Given the description of an element on the screen output the (x, y) to click on. 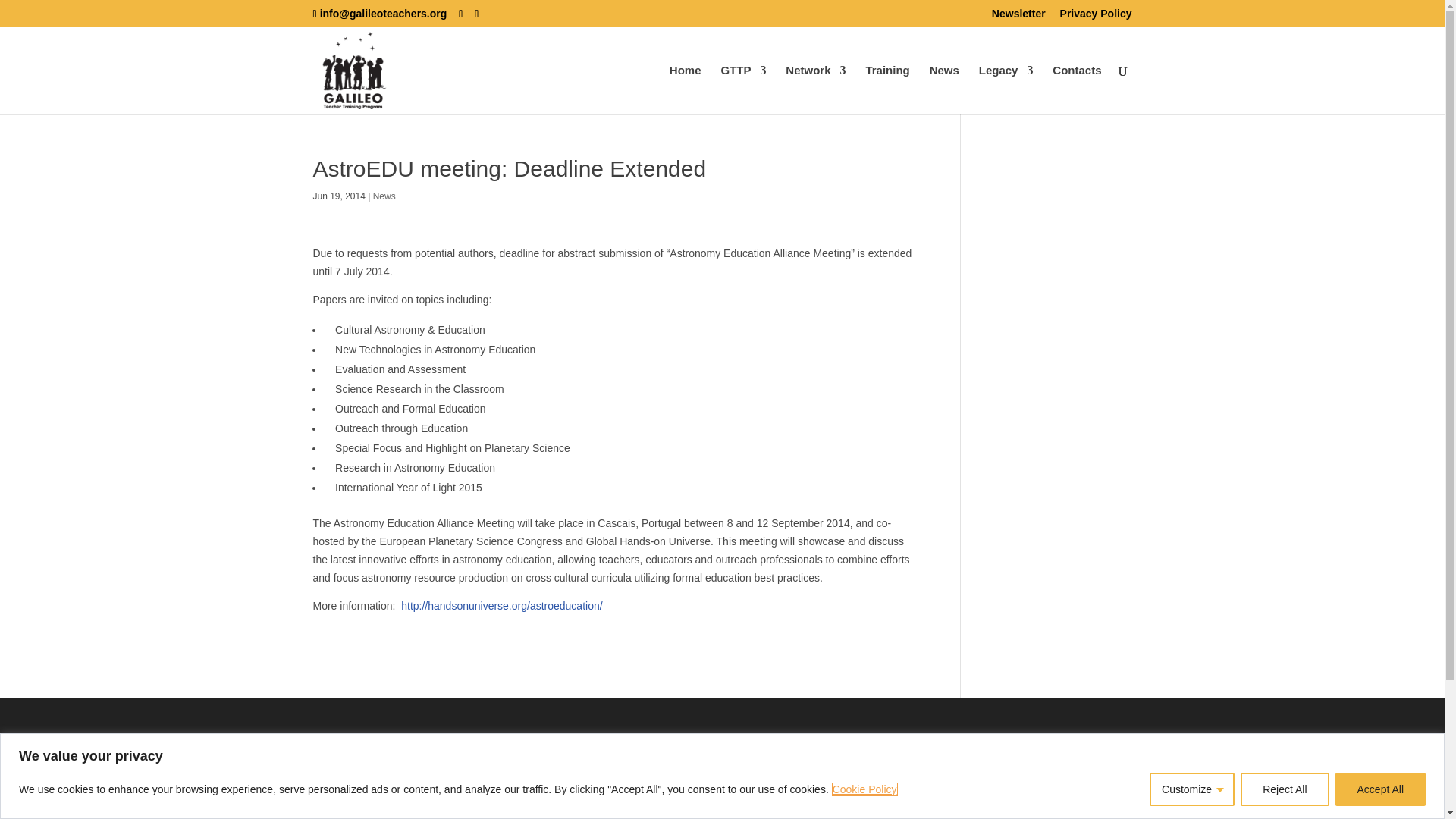
Accept All (1380, 788)
Newsletter (1018, 16)
Training (886, 89)
Customize (1192, 788)
Contacts (1076, 89)
Cookie Policy (864, 789)
Privacy Policy (1095, 16)
GTTP (742, 89)
Network (815, 89)
Legacy (1005, 89)
Reject All (1283, 788)
